Given the description of an element on the screen output the (x, y) to click on. 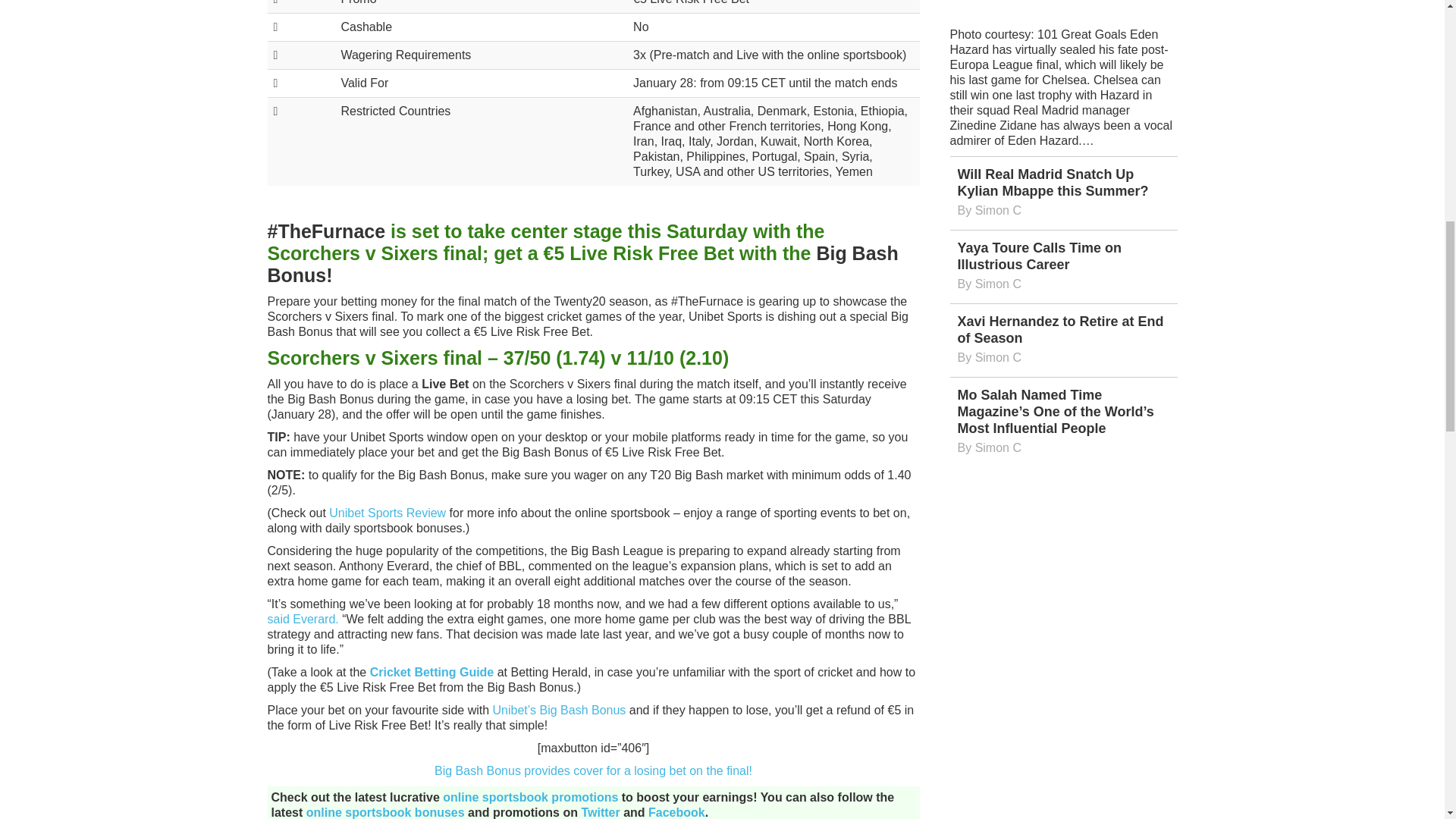
Posts by Simon C (998, 210)
Posts by Simon C (998, 283)
Posts by Simon C (998, 447)
Posts by Simon C (998, 357)
